Given the description of an element on the screen output the (x, y) to click on. 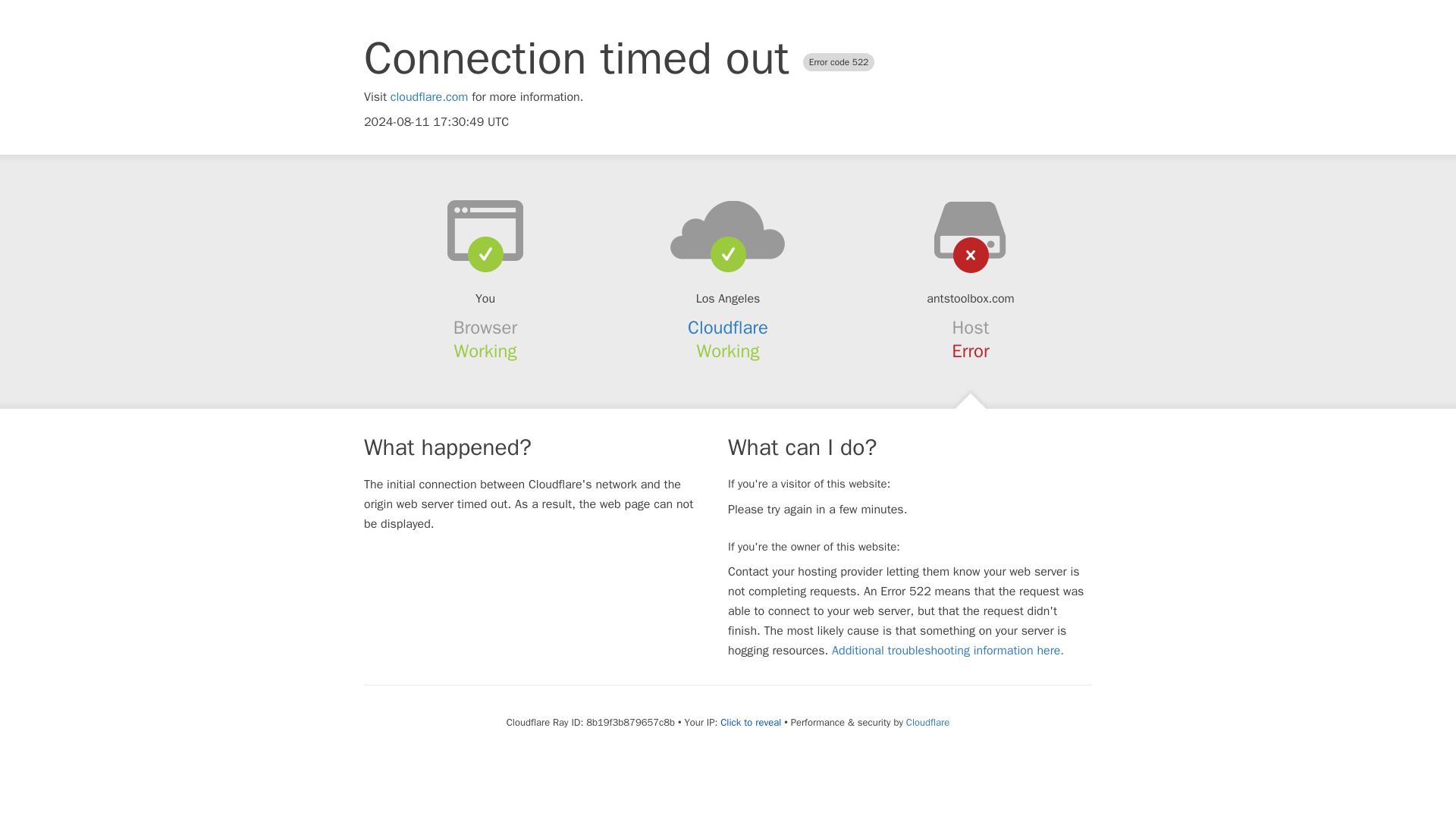
Additional troubleshooting information here. (947, 650)
Cloudflare (727, 327)
cloudflare.com (429, 96)
Click to reveal (750, 722)
Cloudflare (927, 721)
